Given the description of an element on the screen output the (x, y) to click on. 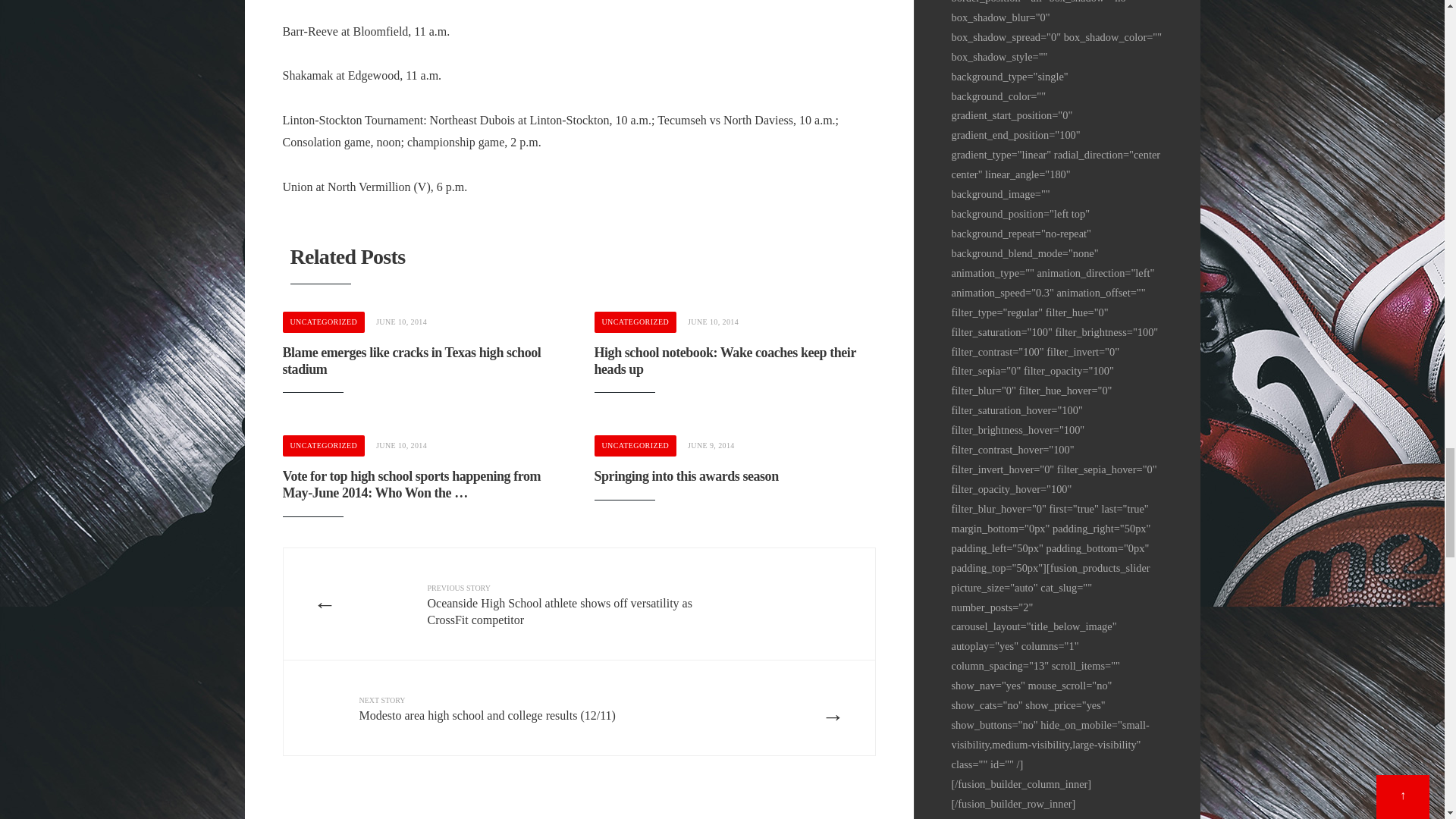
Blame emerges like cracks in Texas high school stadium (411, 360)
UNCATEGORIZED (322, 321)
High school notebook: Wake coaches keep their heads up (725, 360)
UNCATEGORIZED (635, 321)
Springing into this awards season (686, 476)
UNCATEGORIZED (635, 445)
UNCATEGORIZED (322, 445)
